Given the description of an element on the screen output the (x, y) to click on. 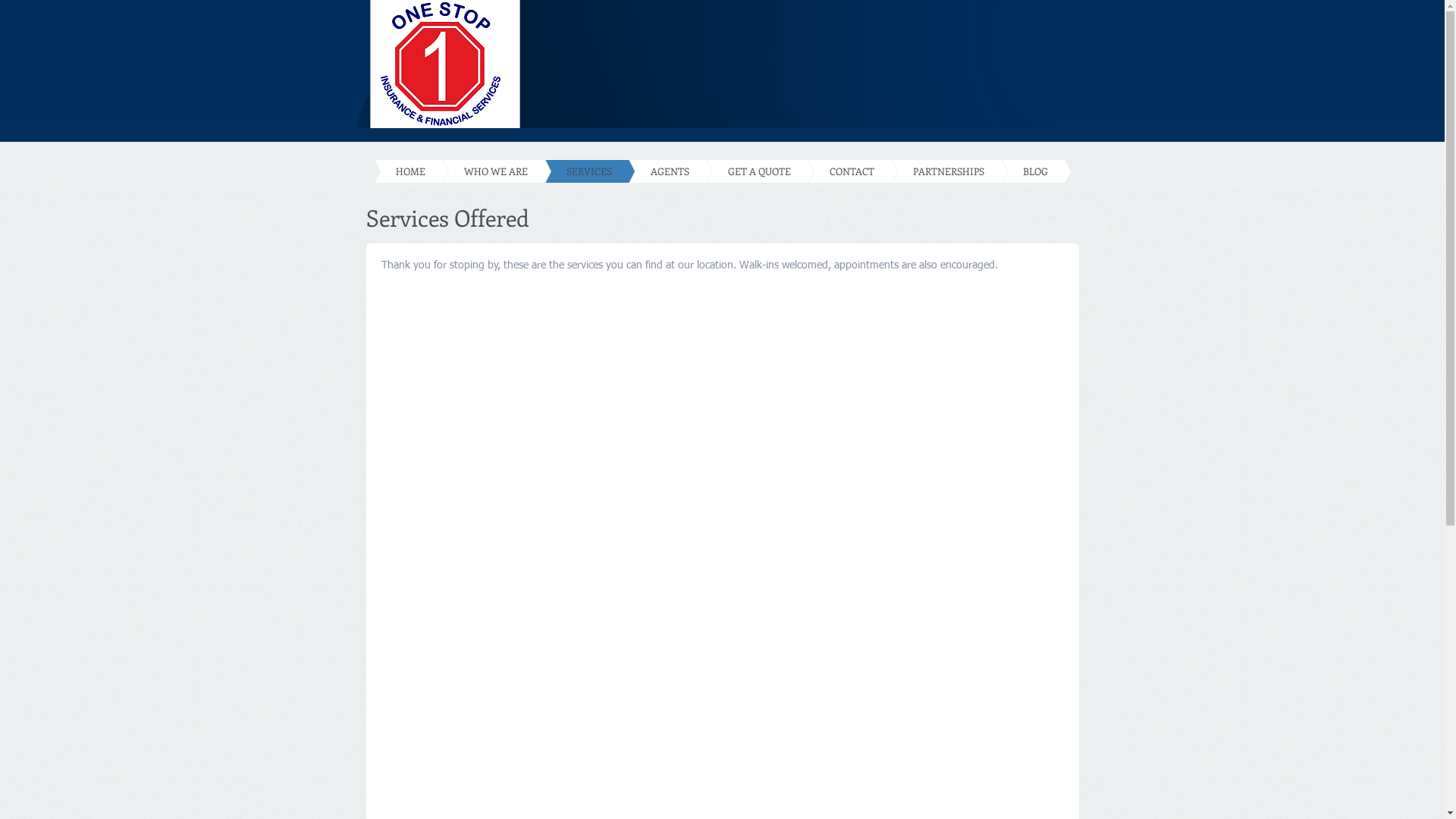
SERVICES Element type: text (566, 171)
CONTACT Element type: text (829, 171)
PARTNERSHIPS Element type: text (925, 171)
BLOG Element type: text (1012, 171)
HOME Element type: text (387, 171)
GET A QUOTE Element type: text (736, 171)
WHO WE ARE Element type: text (472, 171)
